Given the description of an element on the screen output the (x, y) to click on. 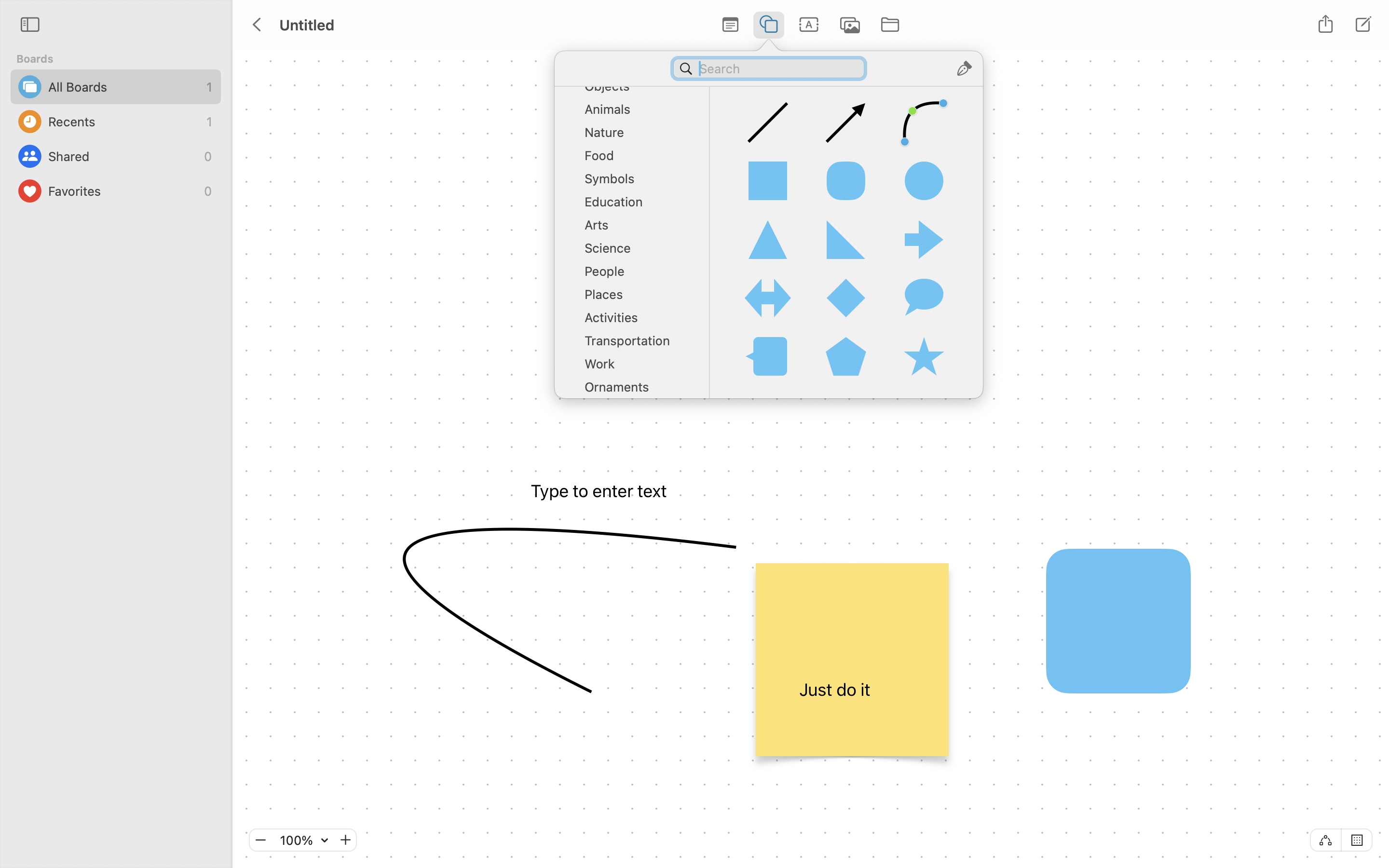
Recents Element type: AXStaticText (124, 121)
Nature Element type: AXStaticText (636, 135)
On Element type: AXButton (1356, 839)
Food Element type: AXStaticText (636, 158)
Basic Element type: AXStaticText (636, 42)
